Given the description of an element on the screen output the (x, y) to click on. 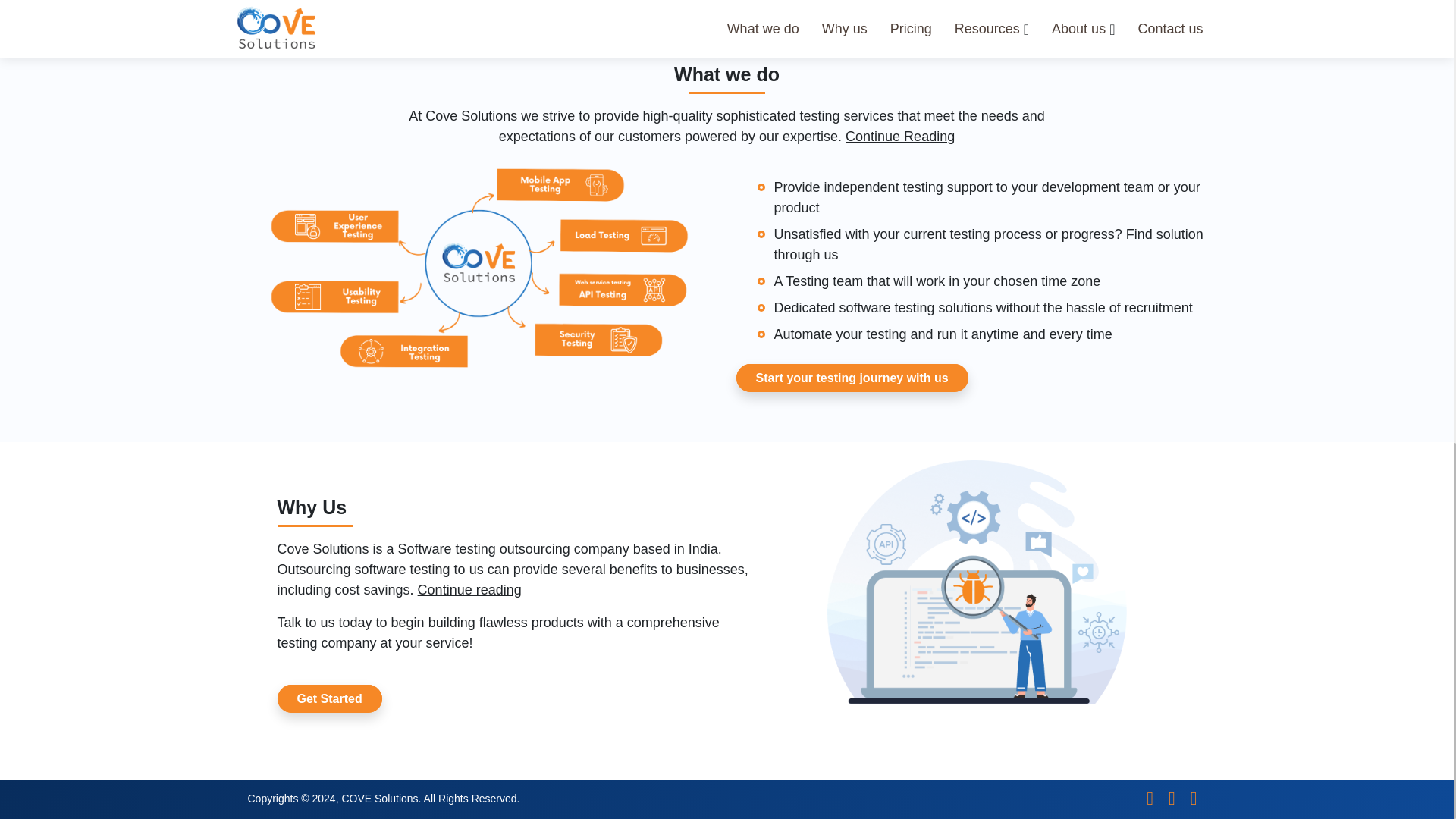
Start your testing journey with us (851, 377)
Continue reading (469, 589)
Get Started (329, 698)
Continue Reading (900, 136)
